Given the description of an element on the screen output the (x, y) to click on. 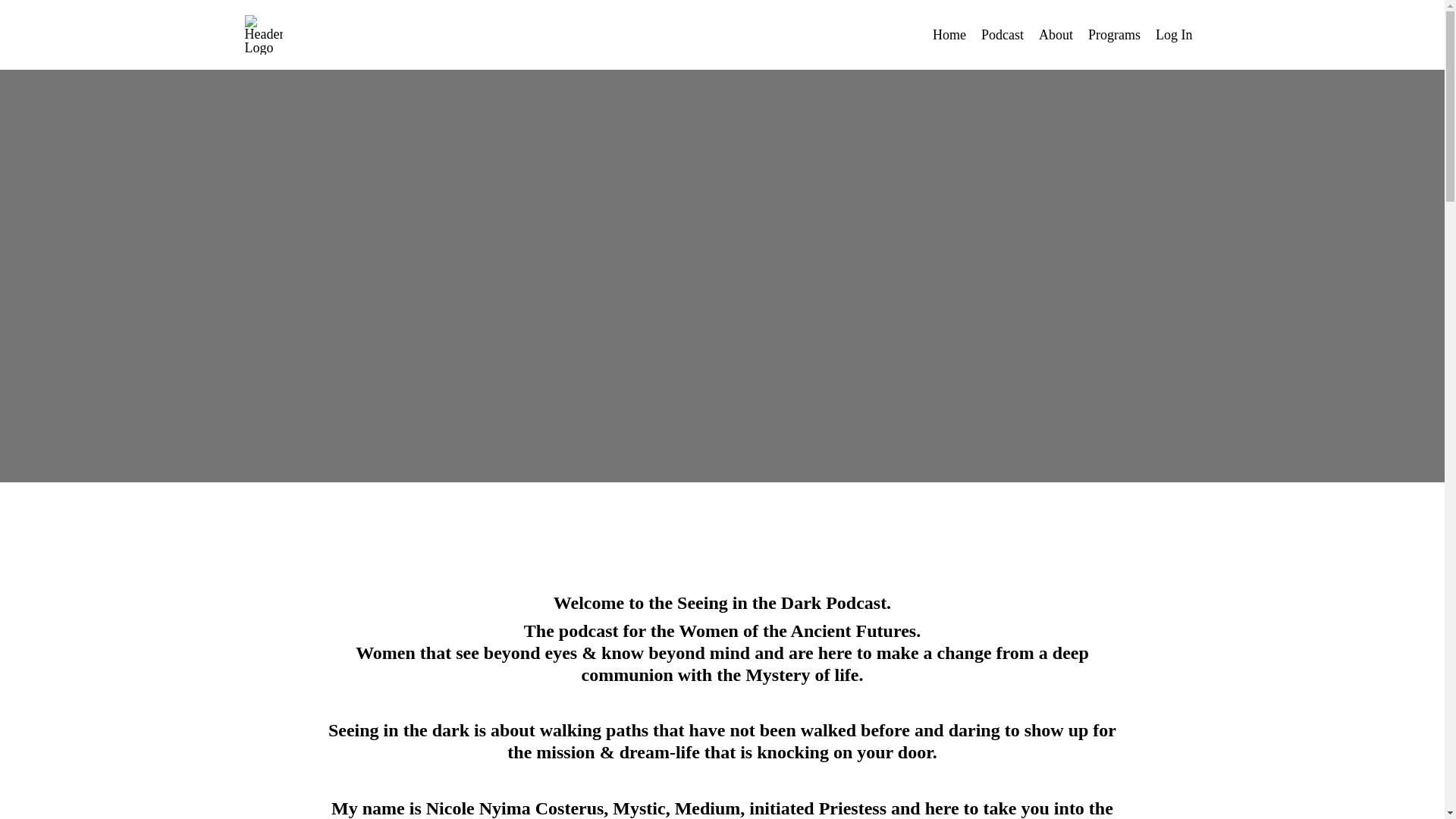
About (1056, 34)
Log In (1174, 34)
Programs (1113, 34)
Podcast (1002, 34)
Home (949, 34)
